Given the description of an element on the screen output the (x, y) to click on. 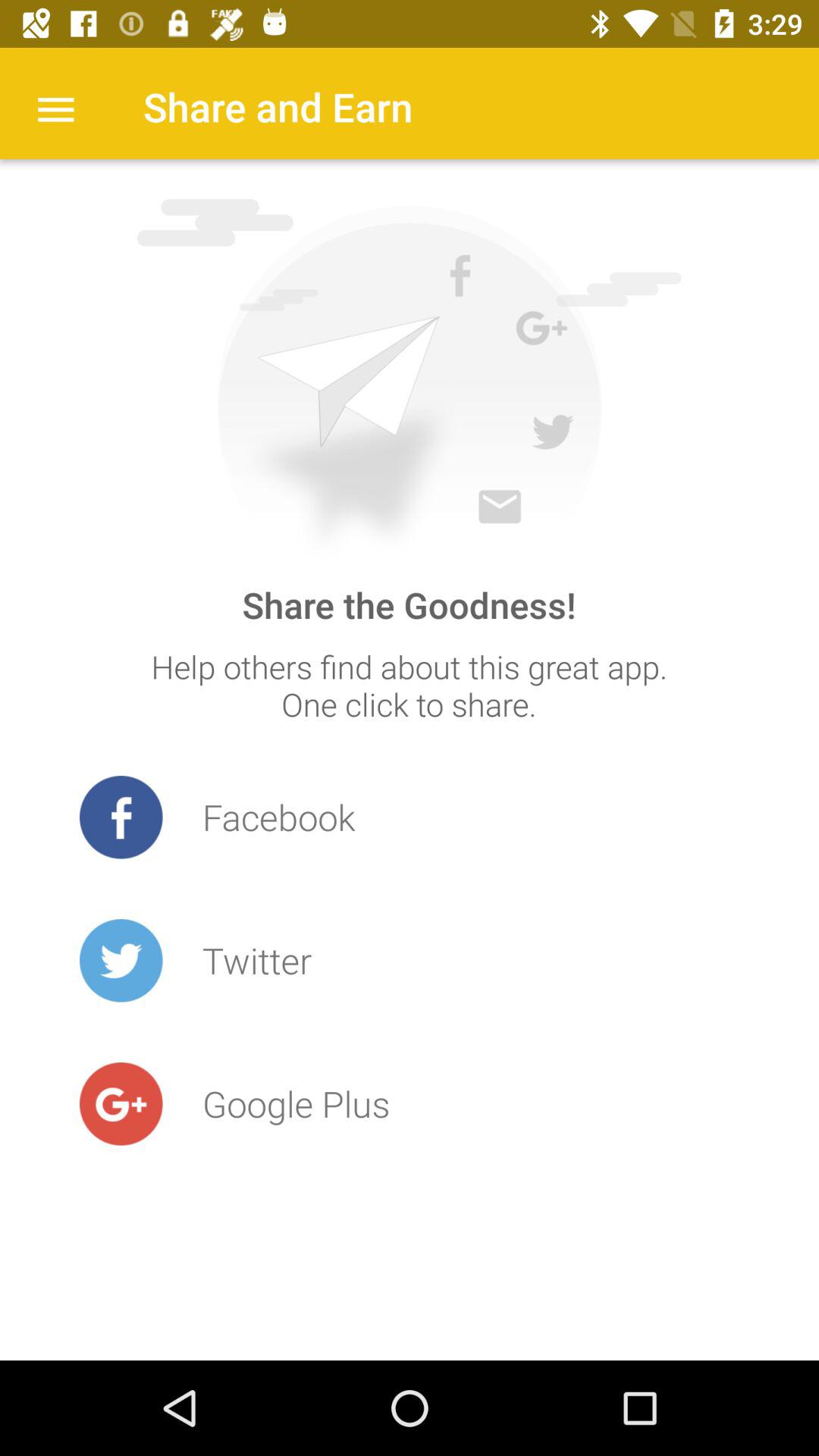
mobile app share (409, 379)
